Given the description of an element on the screen output the (x, y) to click on. 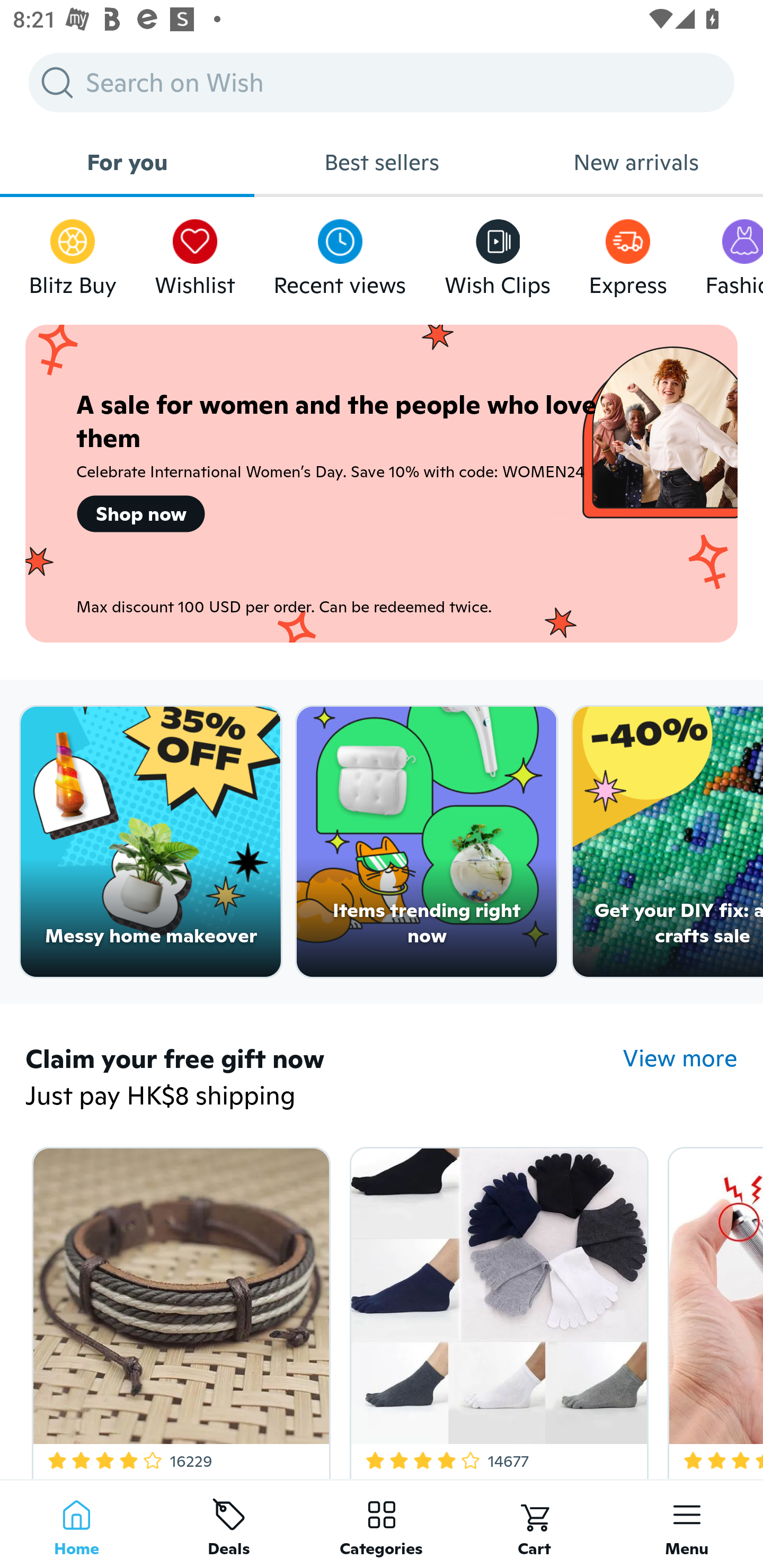
Search on Wish (381, 82)
For you (127, 161)
Best sellers (381, 161)
New arrivals (635, 161)
Blitz Buy (72, 252)
Wishlist (194, 252)
Recent views (339, 252)
Wish Clips (497, 252)
Express (627, 252)
Fashion (734, 252)
Messy home makeover (150, 841)
Items trending right now (426, 841)
Get your DIY fix: arts & crafts sale (668, 841)
Claim your free gift now
Just pay HK$8 shipping (323, 1078)
View more (679, 1058)
3.8 Star Rating 16229 Free (177, 1308)
4.2 Star Rating 14677 Free (495, 1308)
Home (76, 1523)
Deals (228, 1523)
Categories (381, 1523)
Cart (533, 1523)
Menu (686, 1523)
